Given the description of an element on the screen output the (x, y) to click on. 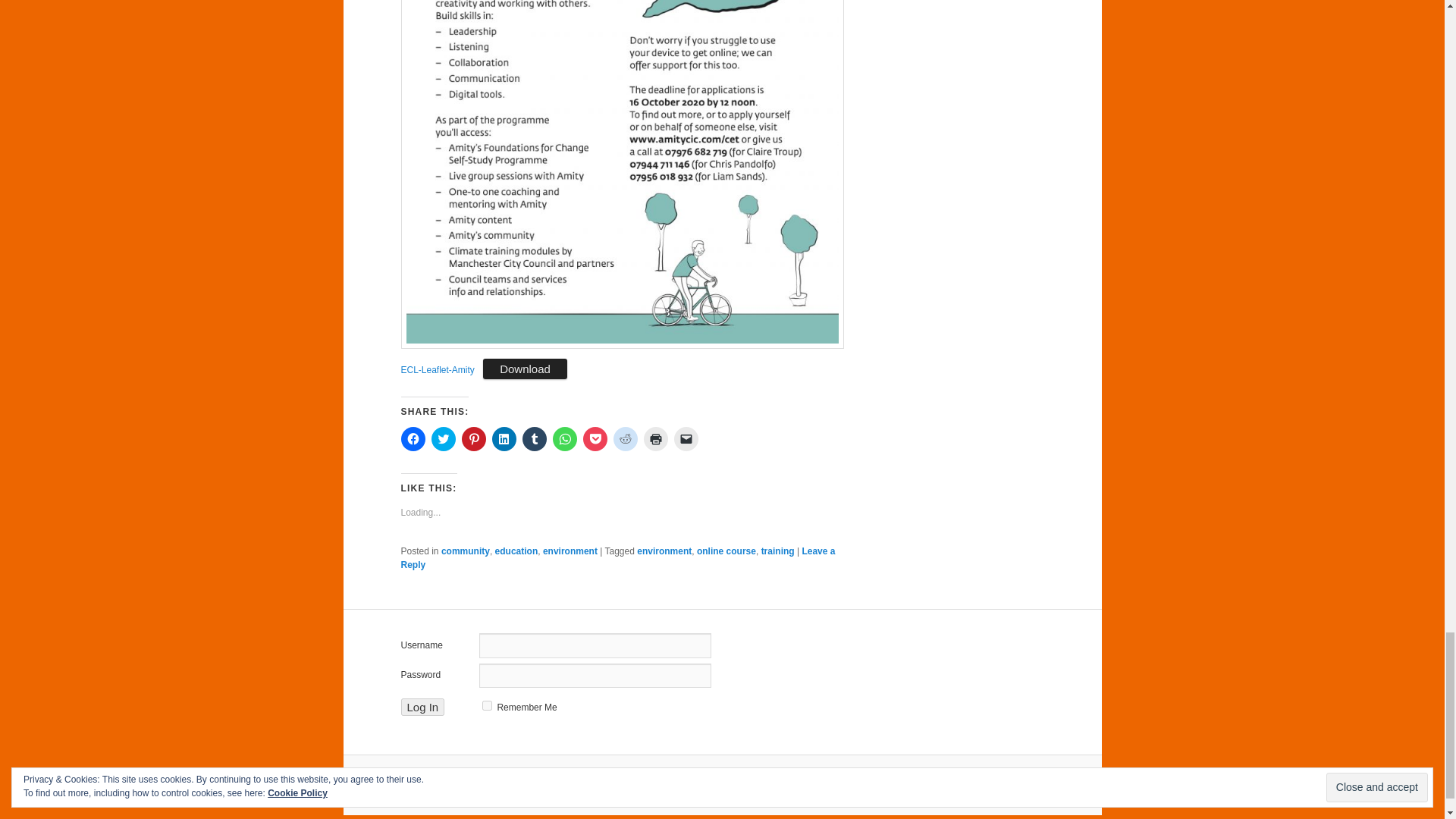
forever (486, 705)
Log In (422, 706)
Click to share on Twitter (442, 438)
Click to share on Facebook (412, 438)
